Given the description of an element on the screen output the (x, y) to click on. 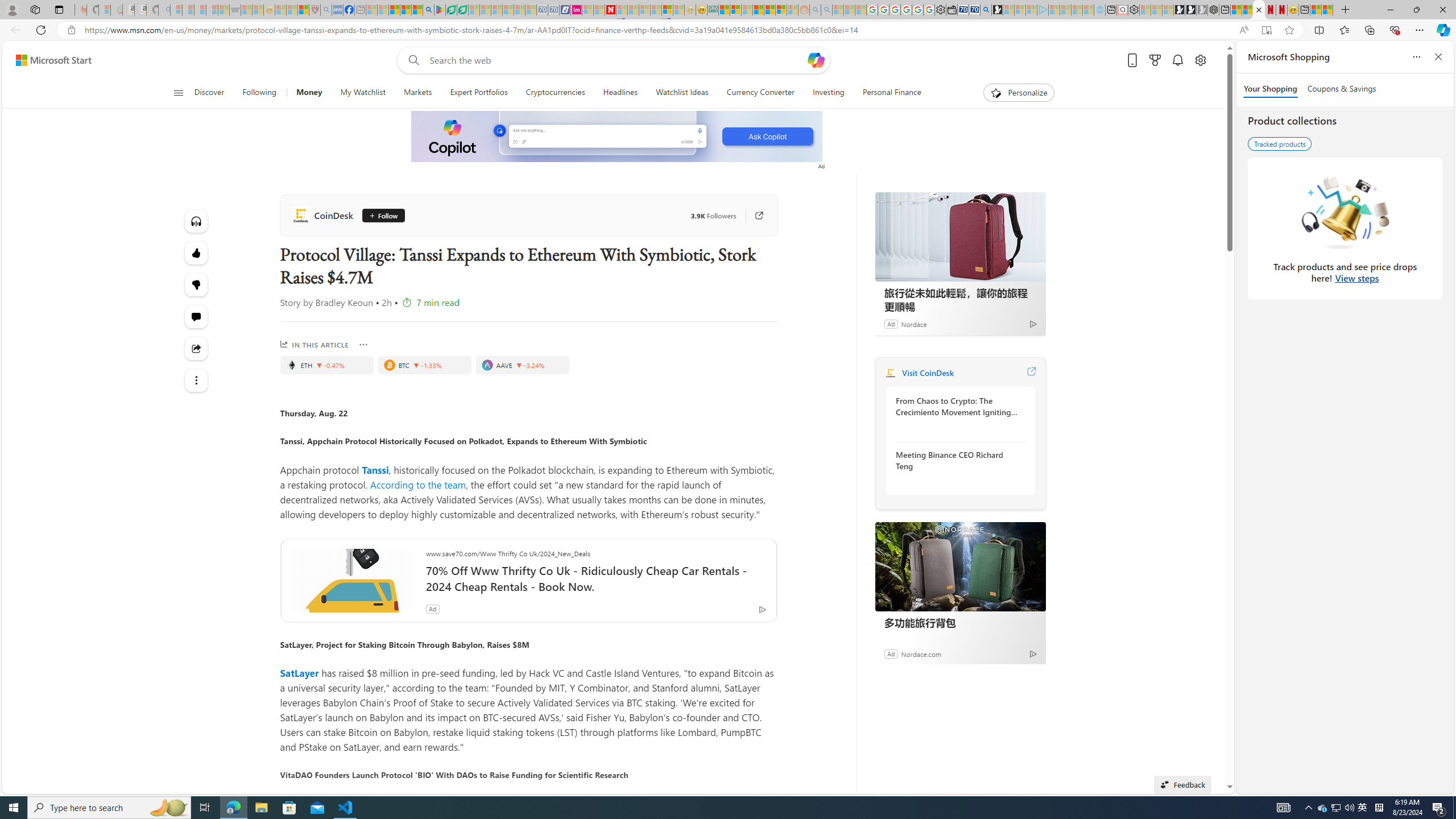
My Watchlist (362, 92)
Listen to this article (196, 220)
Markets (417, 92)
Investing (828, 92)
ETH, Ethereum. Price is 2,623.15. Decreased by -0.47% (326, 365)
Watchlist Ideas (682, 92)
CoinDesk (324, 215)
